Given the description of an element on the screen output the (x, y) to click on. 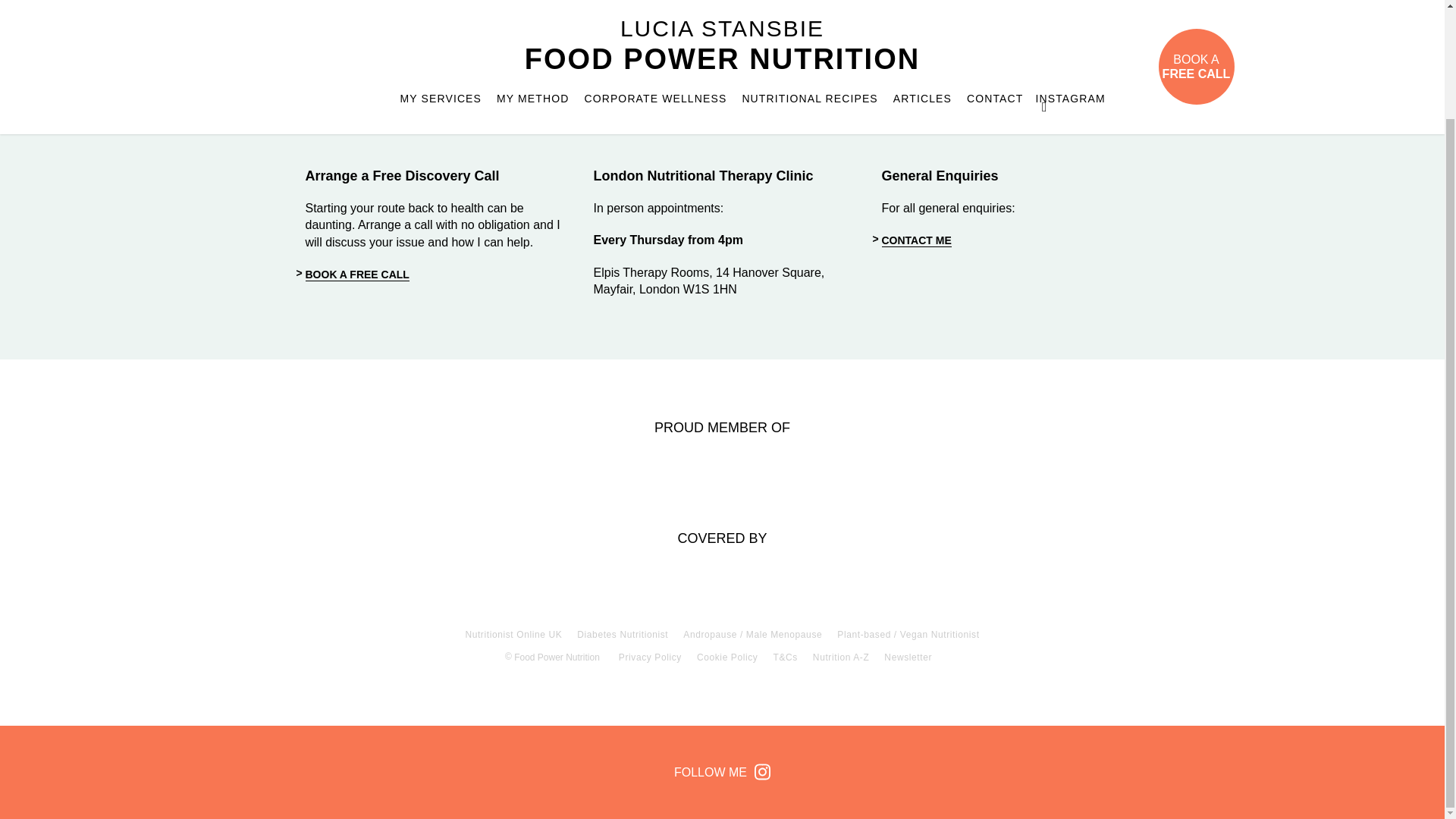
Privacy Policy (649, 656)
CONTACT ME (915, 240)
Nutritionist Online UK (513, 634)
BOOK A FREE CALL (356, 274)
Newsletter (907, 656)
Nutrition A-Z (840, 656)
Cookie Policy (727, 656)
Diabetes Nutritionist (622, 634)
